Given the description of an element on the screen output the (x, y) to click on. 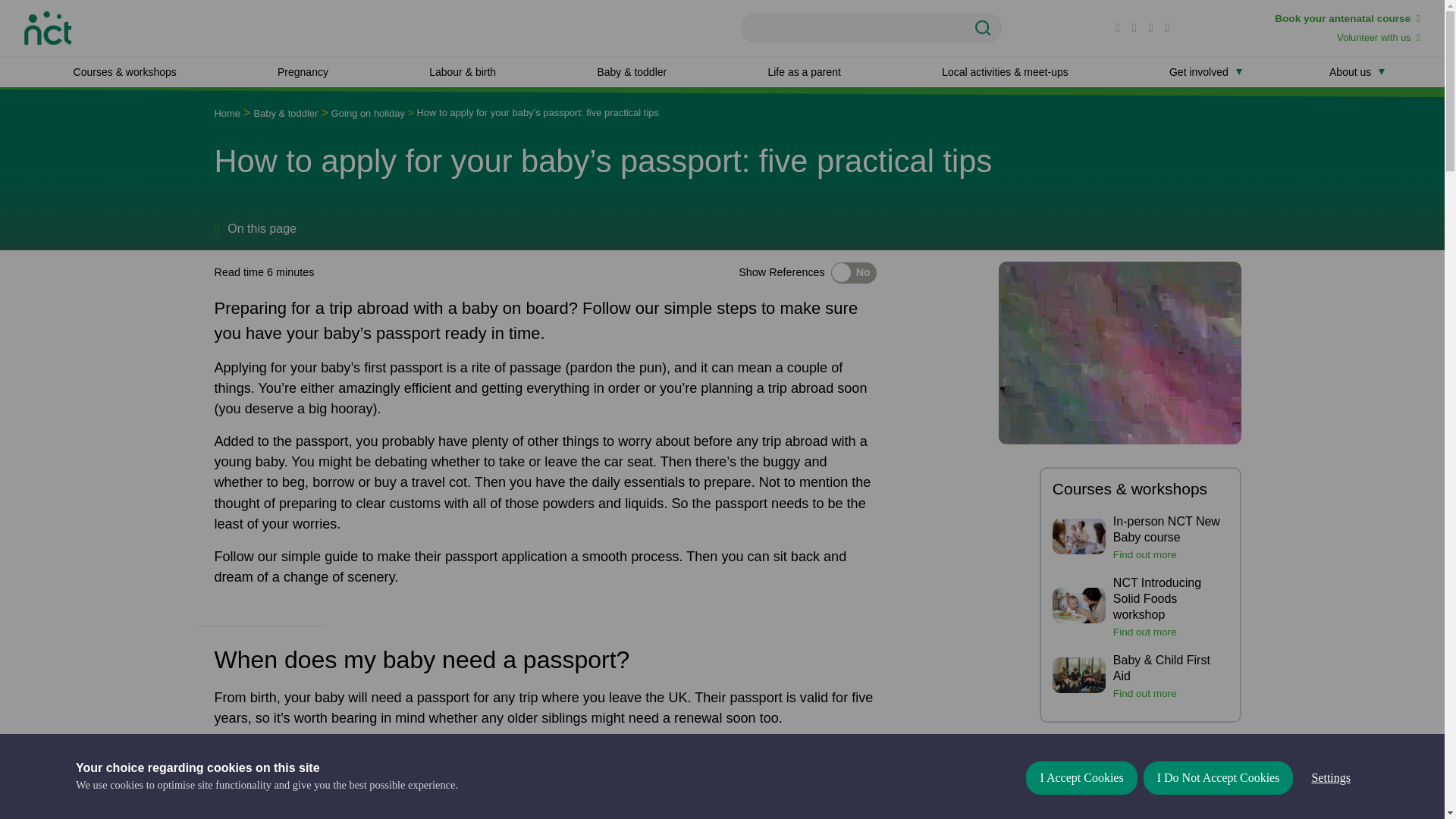
Volunteer (1378, 37)
Search (987, 28)
Enter the terms you wish to search for. (872, 27)
Local NCT events and meet-ups (1005, 71)
Home (47, 26)
Book your antenatal course (1348, 18)
Evidenced-based information on Pregnancy (302, 71)
Settings (1330, 811)
Home (227, 112)
Pregnancy (302, 71)
Dropdown menu button (1381, 72)
Dropdown menu button (1238, 72)
Get involved (1198, 71)
Evidenced-based information about life as a parent (804, 71)
Life as a parent (804, 71)
